Given the description of an element on the screen output the (x, y) to click on. 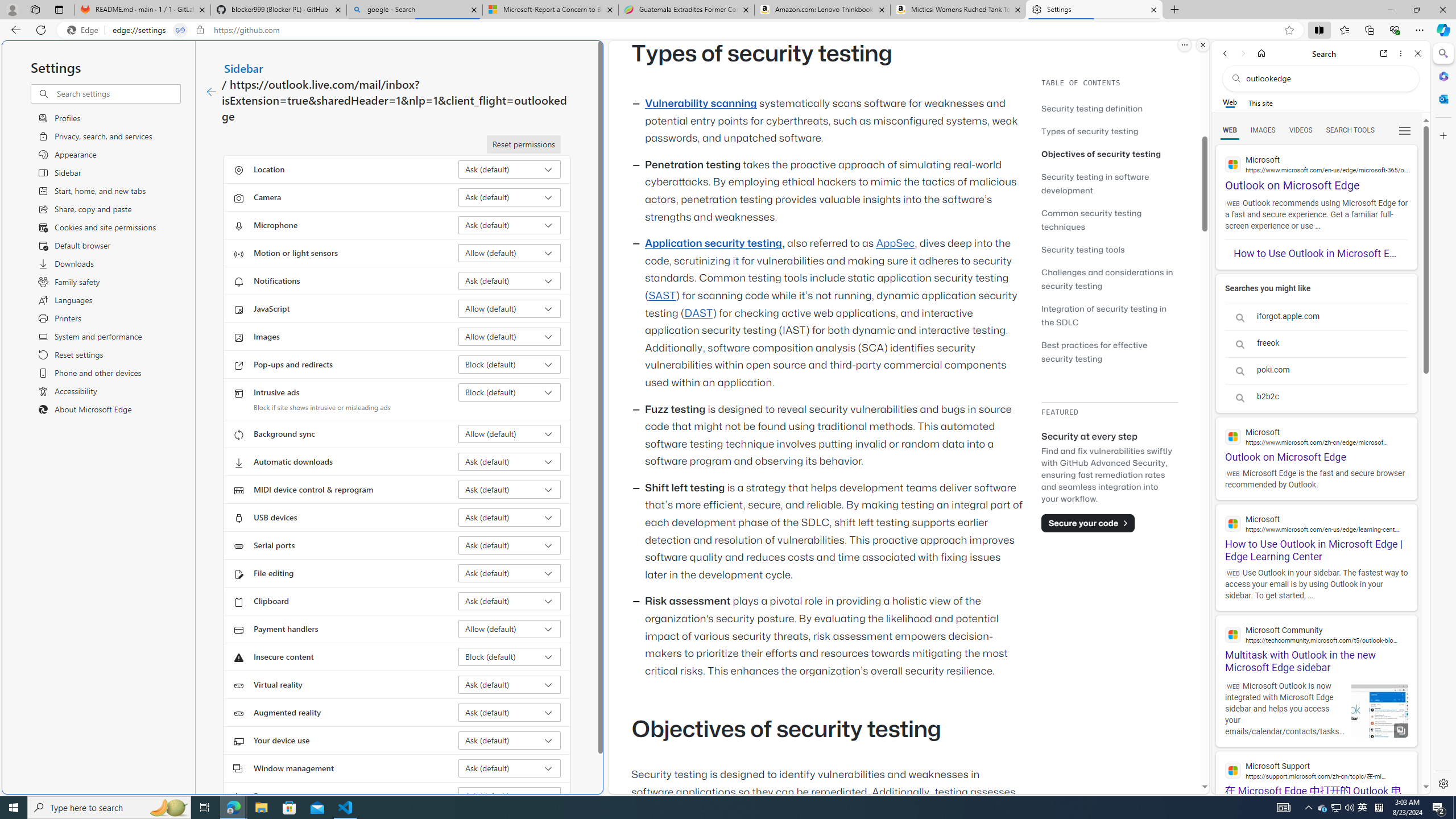
AppSec (895, 243)
Edge (84, 29)
Secure your code (1088, 522)
Security testing in software development (1094, 182)
Security testing in software development (1109, 183)
Camera Ask (default) (509, 197)
Payment handlers Allow (default) (509, 628)
Class: c01182 (210, 91)
